Given the description of an element on the screen output the (x, y) to click on. 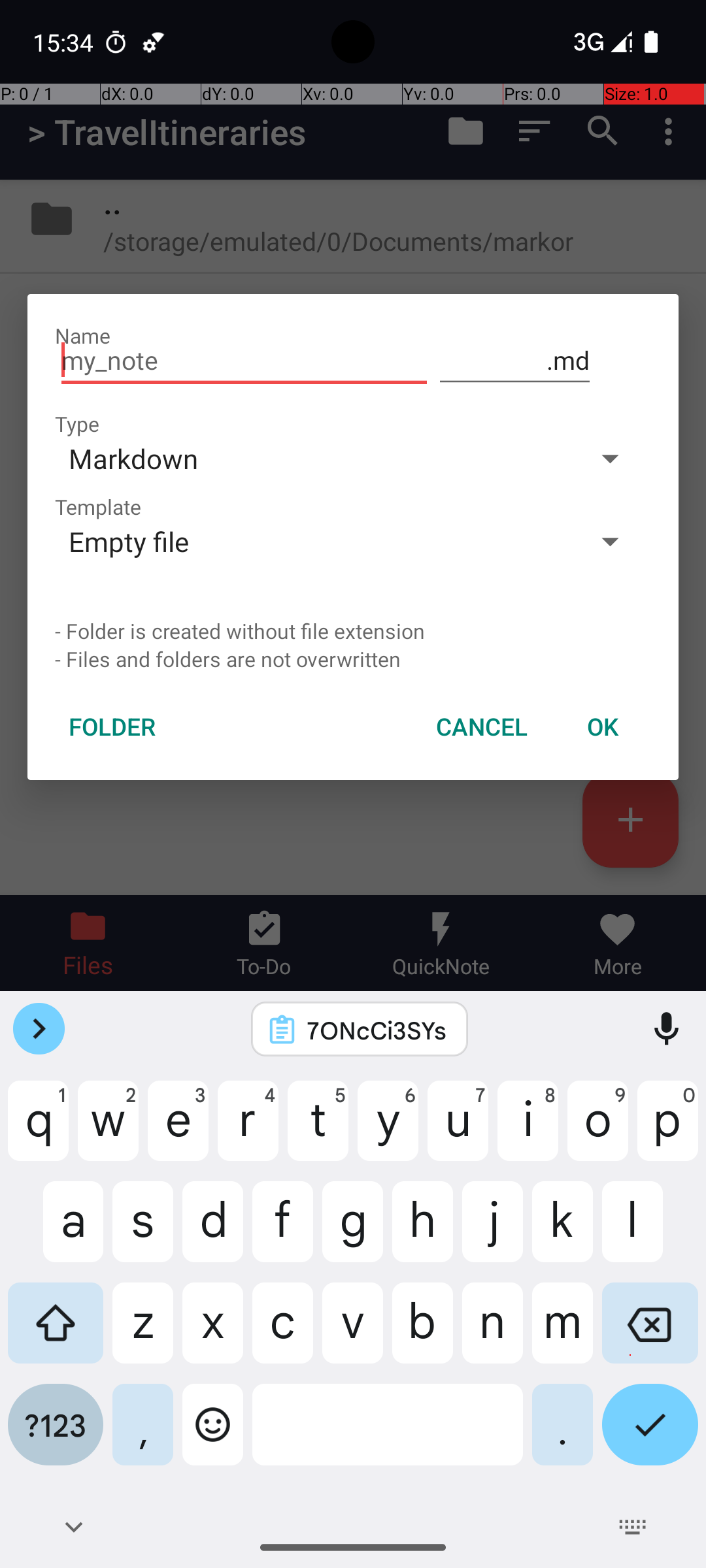
7ONcCi3SYs Element type: android.widget.TextView (376, 1029)
